Given the description of an element on the screen output the (x, y) to click on. 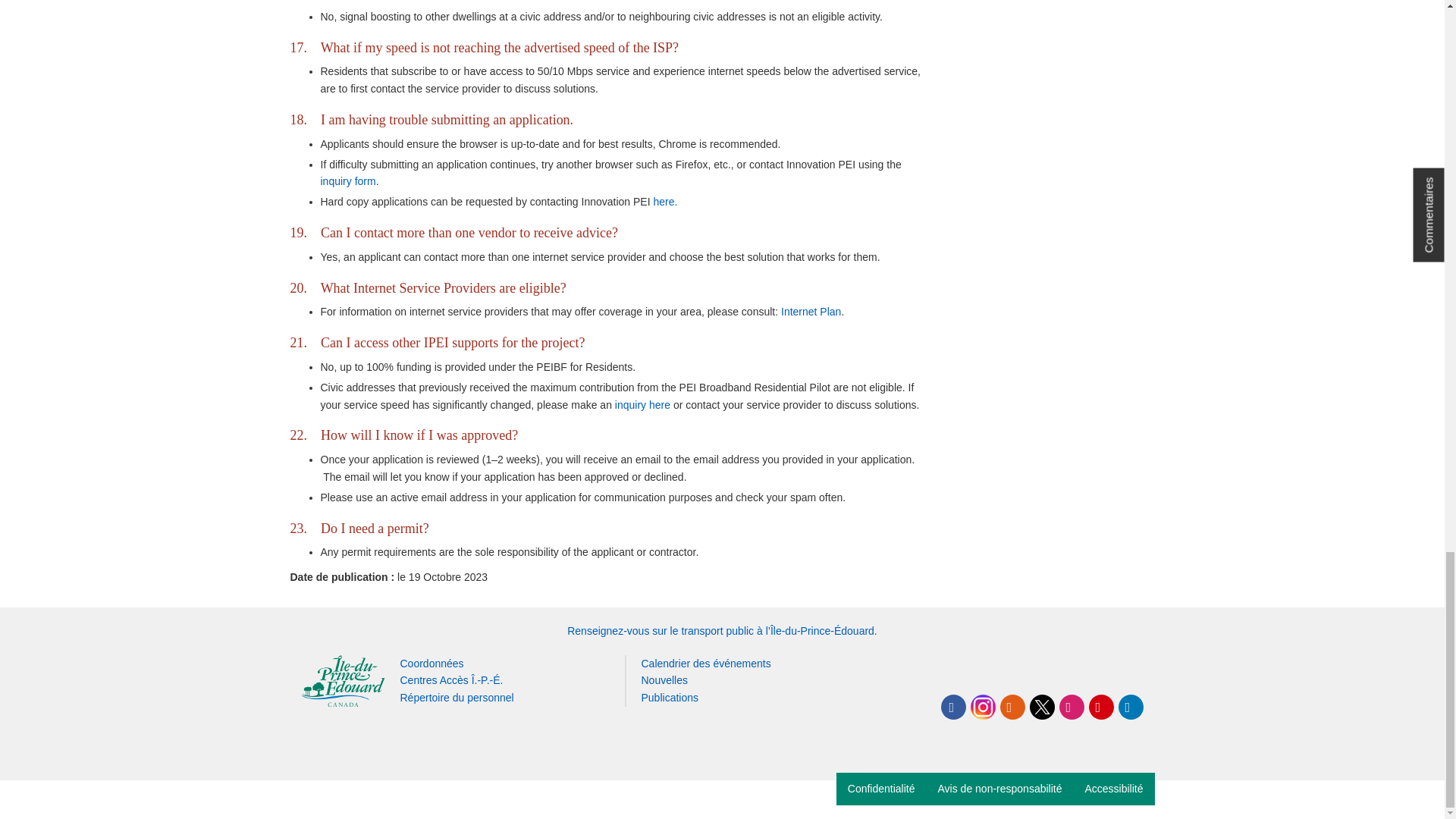
Visitez notre page Flickr (1070, 706)
Fils RSS (1011, 706)
Visitez notre compte X (1041, 706)
Visitez notre page Instagram (983, 706)
Visitez notre page Facebook  (952, 706)
